Given the description of an element on the screen output the (x, y) to click on. 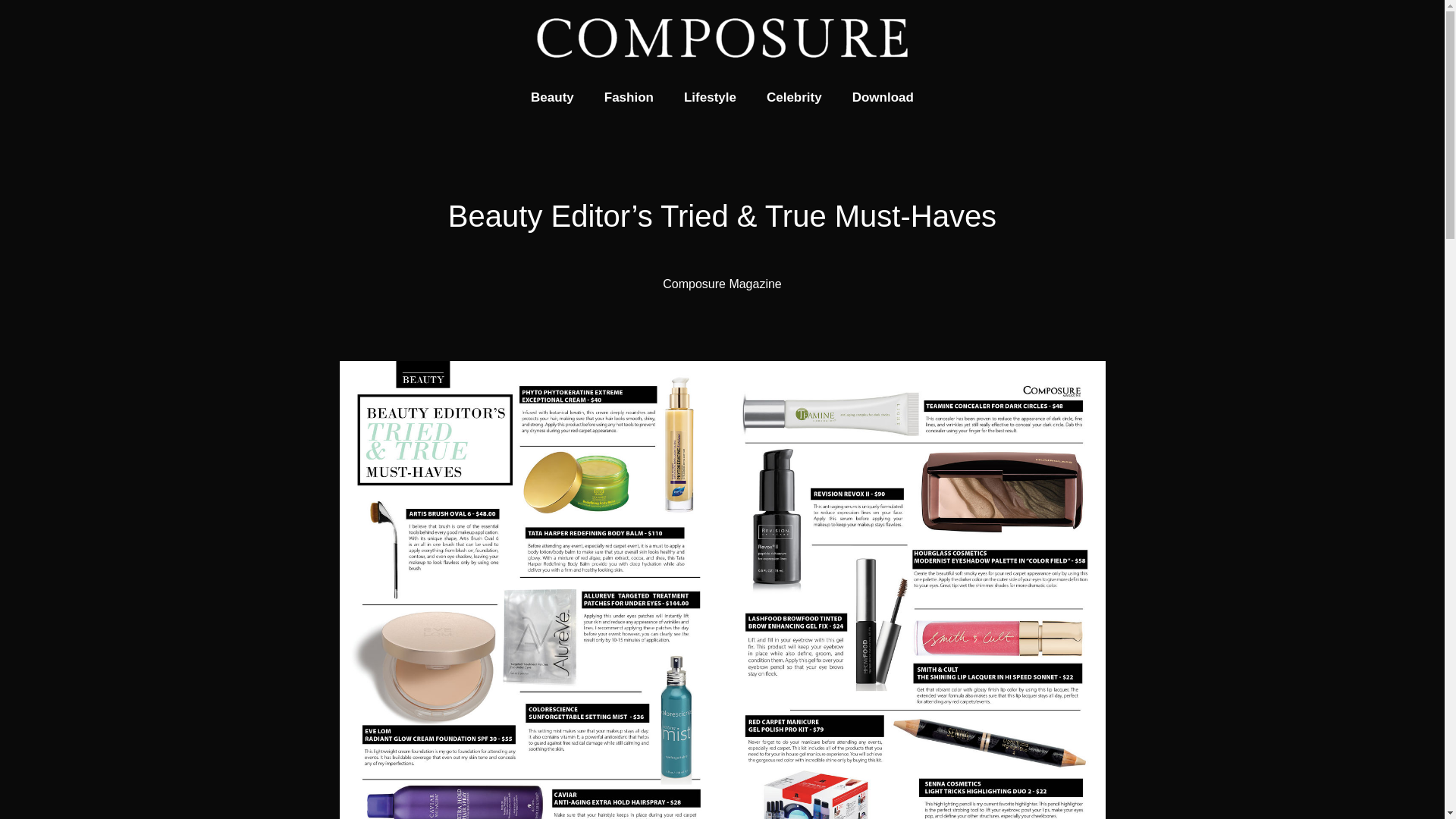
Beauty (552, 97)
Lifestyle (709, 97)
Fashion (628, 97)
Celebrity (794, 97)
Download (882, 97)
